Given the description of an element on the screen output the (x, y) to click on. 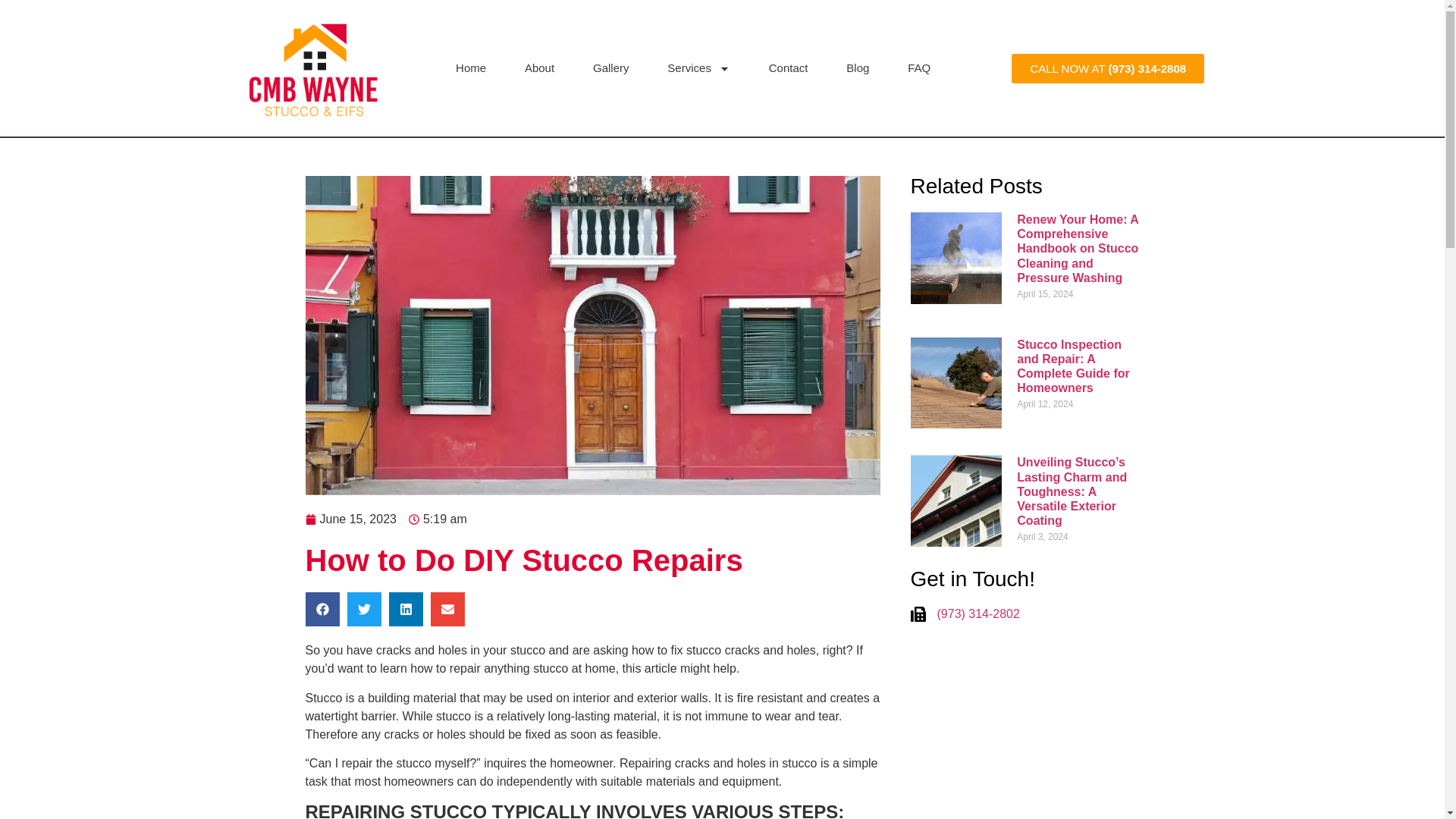
Blog (857, 67)
Services (698, 67)
Contact (788, 67)
About (539, 67)
Gallery (610, 67)
Home (470, 67)
FAQ (919, 67)
